Given the description of an element on the screen output the (x, y) to click on. 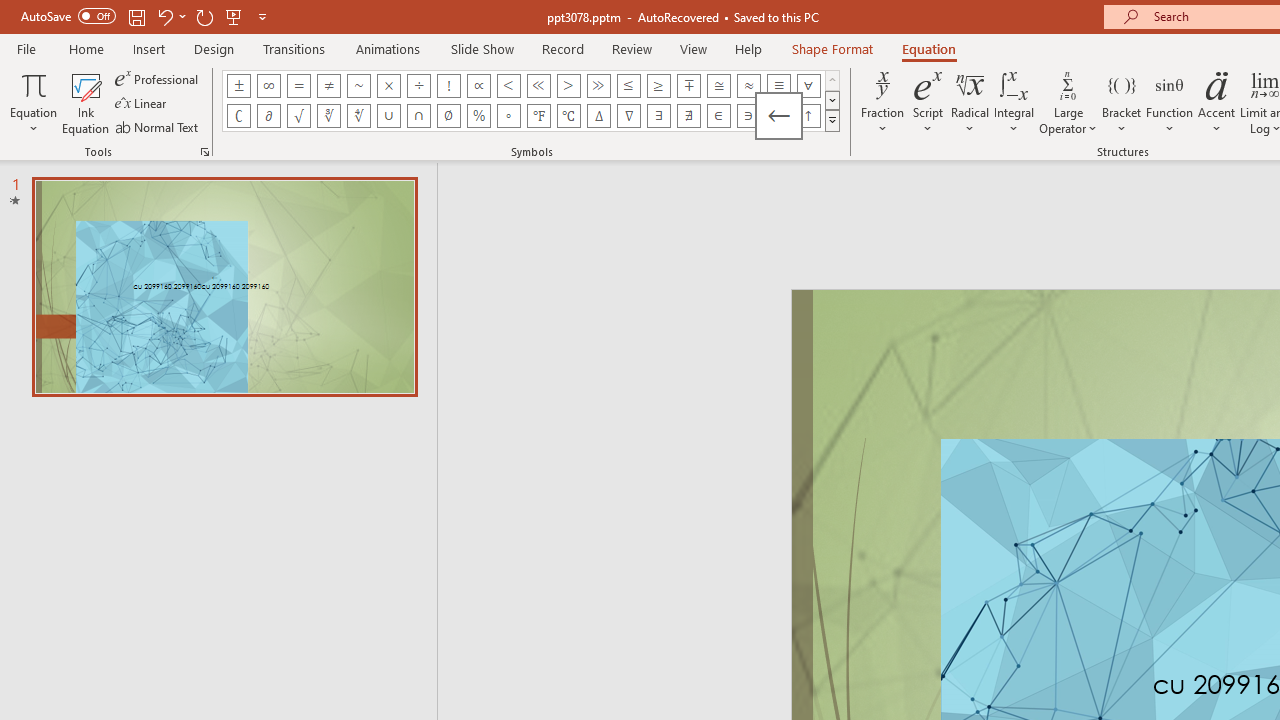
Equation Symbols (832, 120)
Equation Symbol Partial Differential (268, 115)
Large Operator (1067, 102)
Equation Symbol Left Arrow (778, 115)
Equation Options... (204, 151)
Equation Symbol Increment (598, 115)
Function (1169, 102)
Equation Symbol Equal (298, 85)
